Given the description of an element on the screen output the (x, y) to click on. 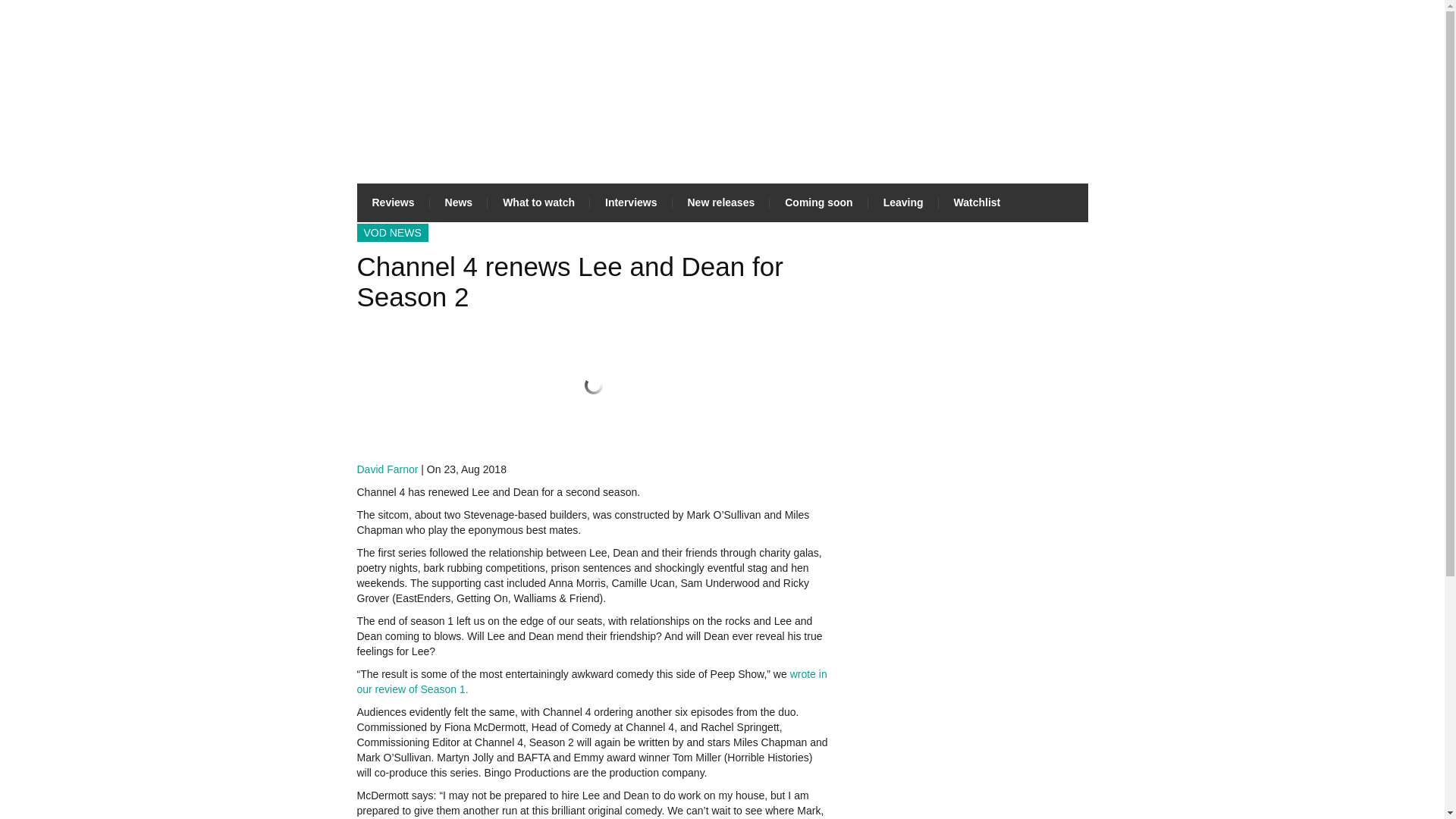
Coming soon (818, 202)
Interviews (630, 202)
New releases (720, 202)
Reviews (392, 202)
News (458, 202)
New releases (720, 202)
What to watch (538, 202)
